Given the description of an element on the screen output the (x, y) to click on. 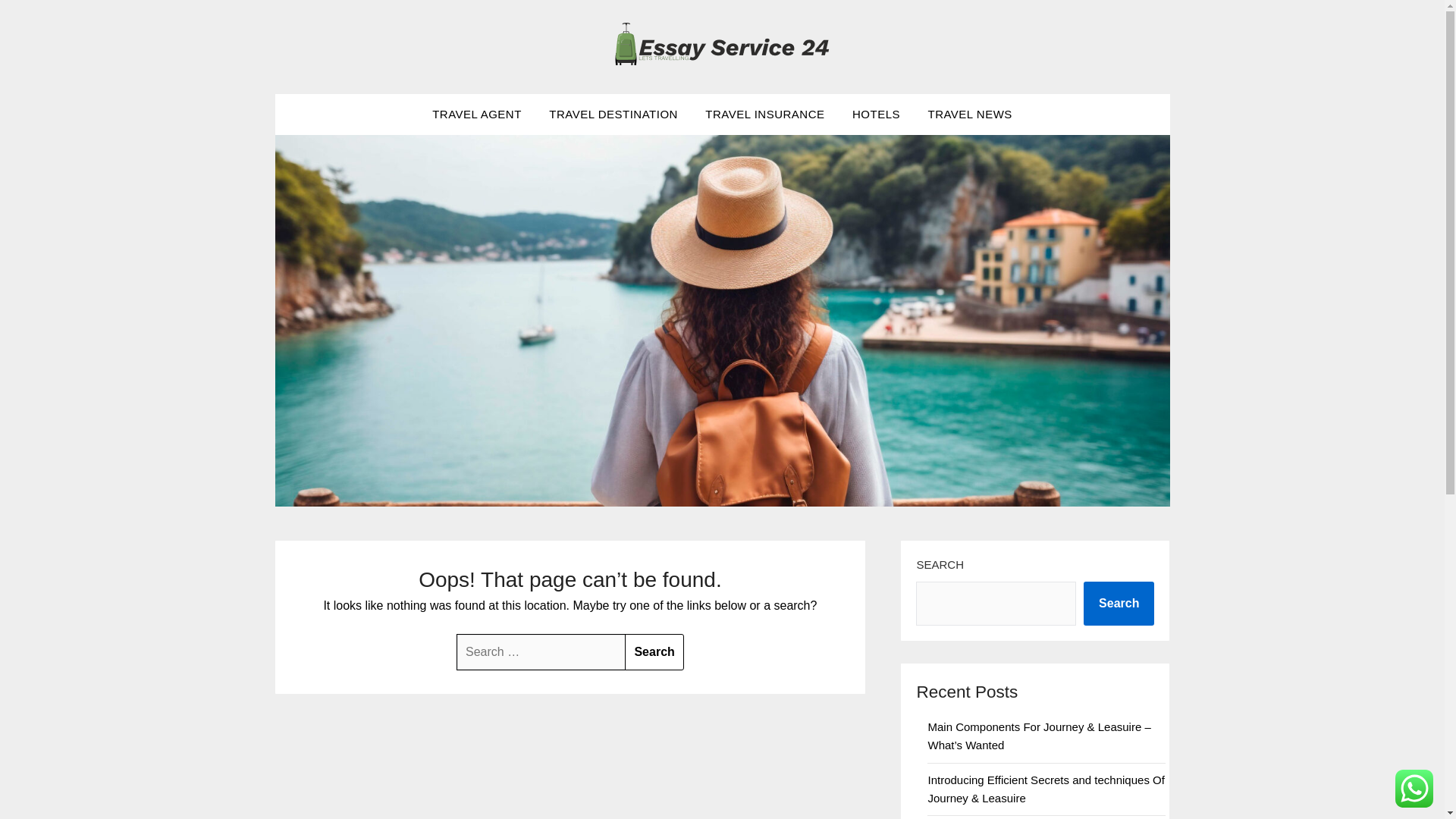
Search (653, 651)
Search (1118, 603)
Search (653, 651)
TRAVEL INSURANCE (764, 114)
HOTELS (876, 114)
TRAVEL NEWS (969, 114)
Search (653, 651)
TRAVEL AGENT (477, 114)
TRAVEL DESTINATION (613, 114)
